Given the description of an element on the screen output the (x, y) to click on. 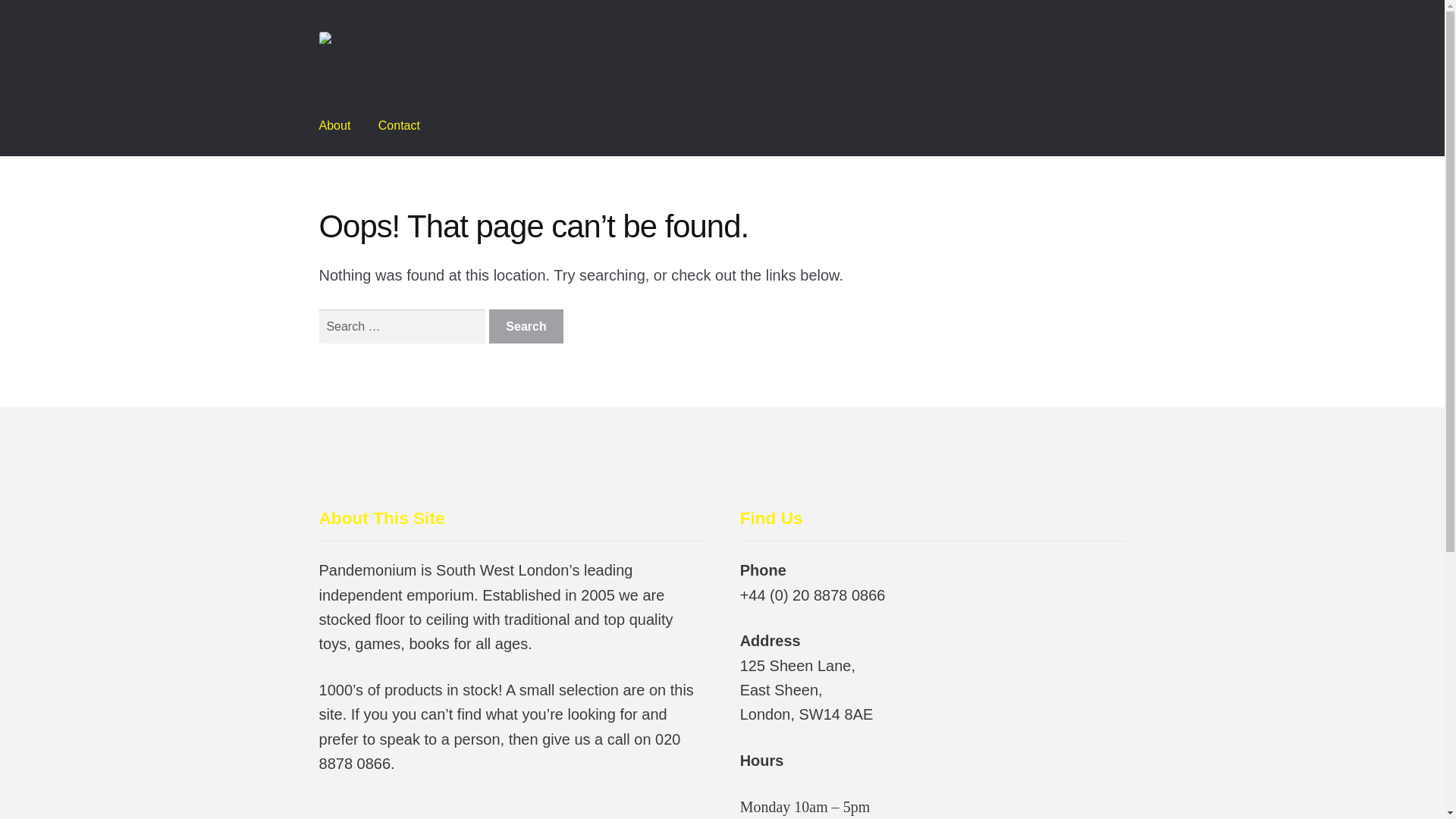
Search (526, 326)
Search (526, 326)
Search (526, 326)
About (334, 125)
Contact (399, 125)
